Given the description of an element on the screen output the (x, y) to click on. 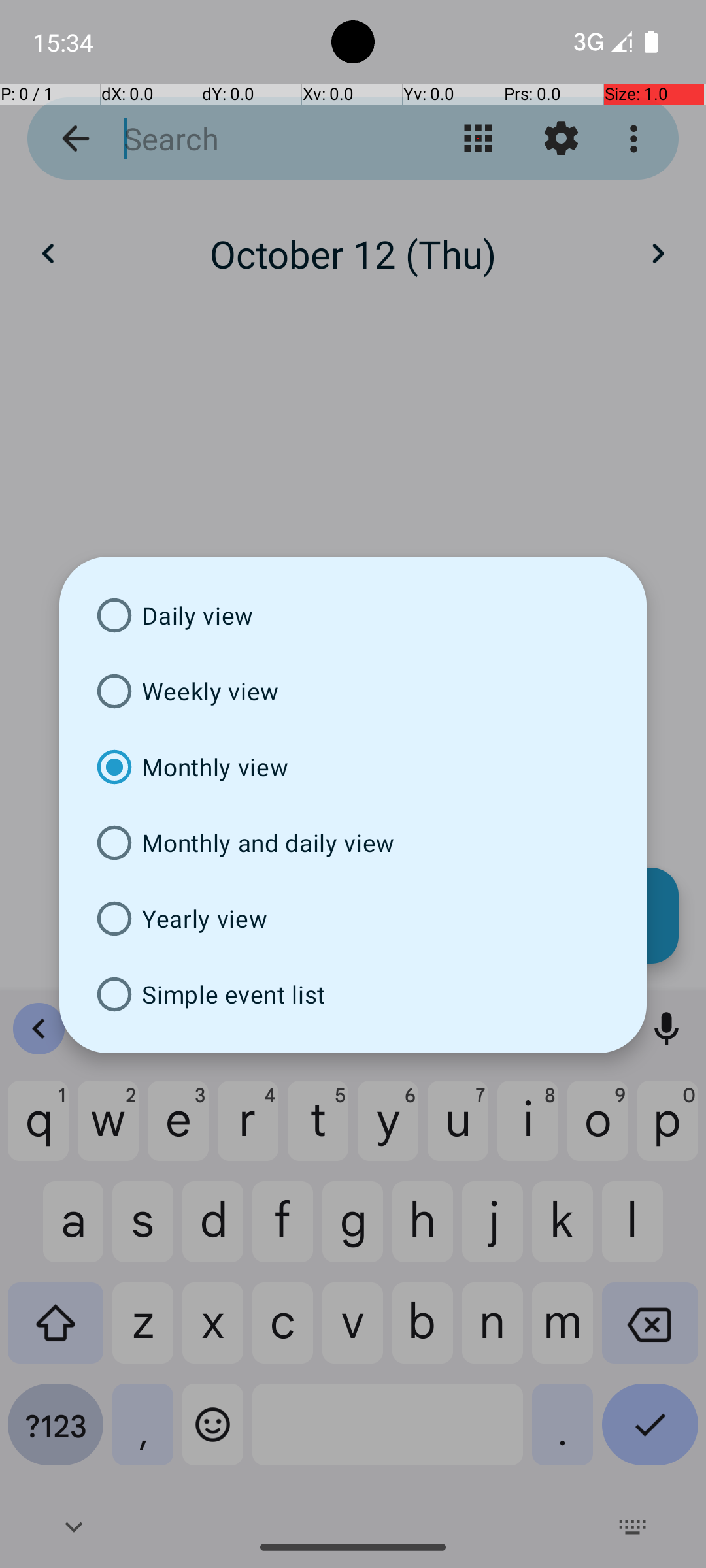
Daily view Element type: android.widget.RadioButton (352, 615)
Weekly view Element type: android.widget.RadioButton (352, 691)
Monthly view Element type: android.widget.RadioButton (352, 766)
Monthly and daily view Element type: android.widget.RadioButton (352, 842)
Yearly view Element type: android.widget.RadioButton (352, 918)
Simple event list Element type: android.widget.RadioButton (352, 994)
